Given the description of an element on the screen output the (x, y) to click on. 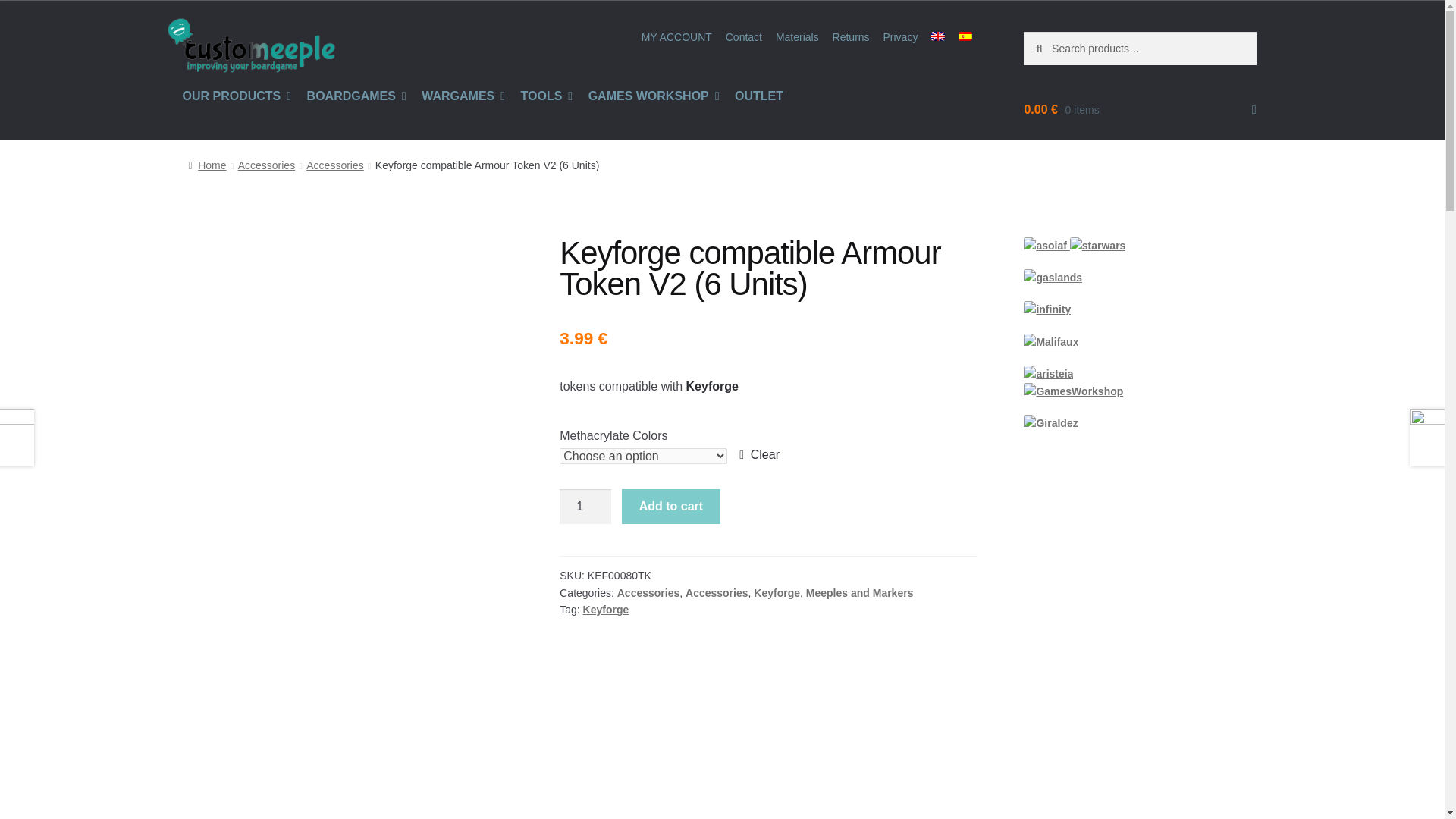
infinity (1046, 309)
Contact (743, 36)
aristeia (1048, 374)
asoiaf (1044, 245)
OUR PRODUCTS (236, 96)
Materials (797, 36)
GamesWorkshop (1072, 391)
View your shopping cart (1139, 109)
